Given the description of an element on the screen output the (x, y) to click on. 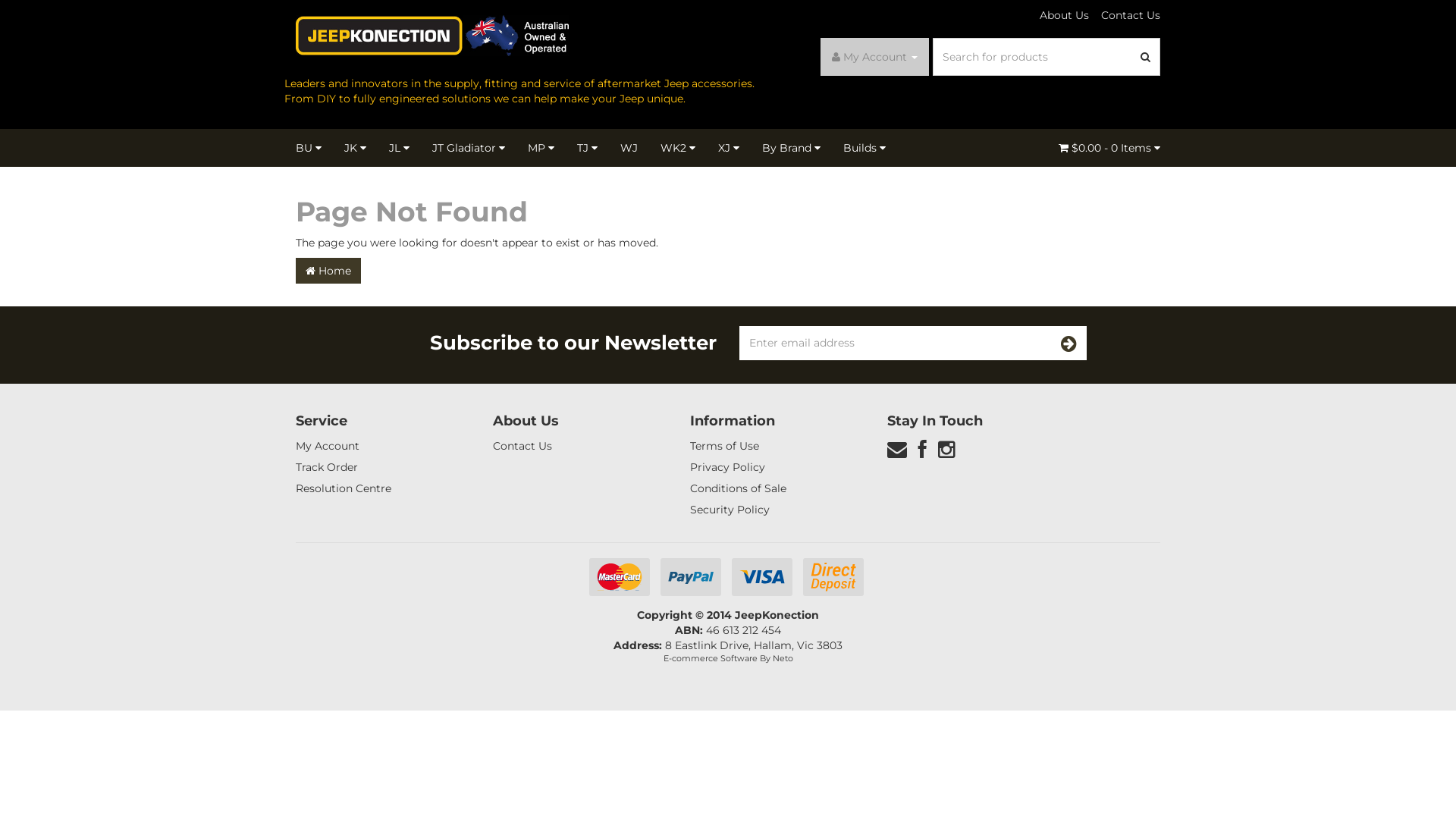
About Us Element type: text (1064, 14)
WK2 Element type: text (677, 147)
E-commerce Software Element type: text (709, 657)
Privacy Policy Element type: text (771, 466)
My Account Element type: text (377, 445)
Security Policy Element type: text (771, 509)
Track Order Element type: text (377, 466)
My Account Element type: text (874, 56)
Contact Us Element type: text (574, 445)
Terms of Use Element type: text (771, 445)
JL Element type: text (398, 147)
By Brand Element type: text (790, 147)
TJ Element type: text (586, 147)
Contact Us Element type: text (1127, 14)
JeepKonection Element type: hover (431, 34)
WJ Element type: text (628, 147)
BU Element type: text (313, 147)
JT Gladiator Element type: text (468, 147)
Conditions of Sale Element type: text (771, 488)
Resolution Centre Element type: text (377, 488)
$0.00 - 0 Items Element type: text (1109, 147)
Search Element type: text (1145, 56)
XJ Element type: text (728, 147)
MP Element type: text (540, 147)
Builds Element type: text (864, 147)
Home Element type: text (327, 270)
JK Element type: text (354, 147)
